Given the description of an element on the screen output the (x, y) to click on. 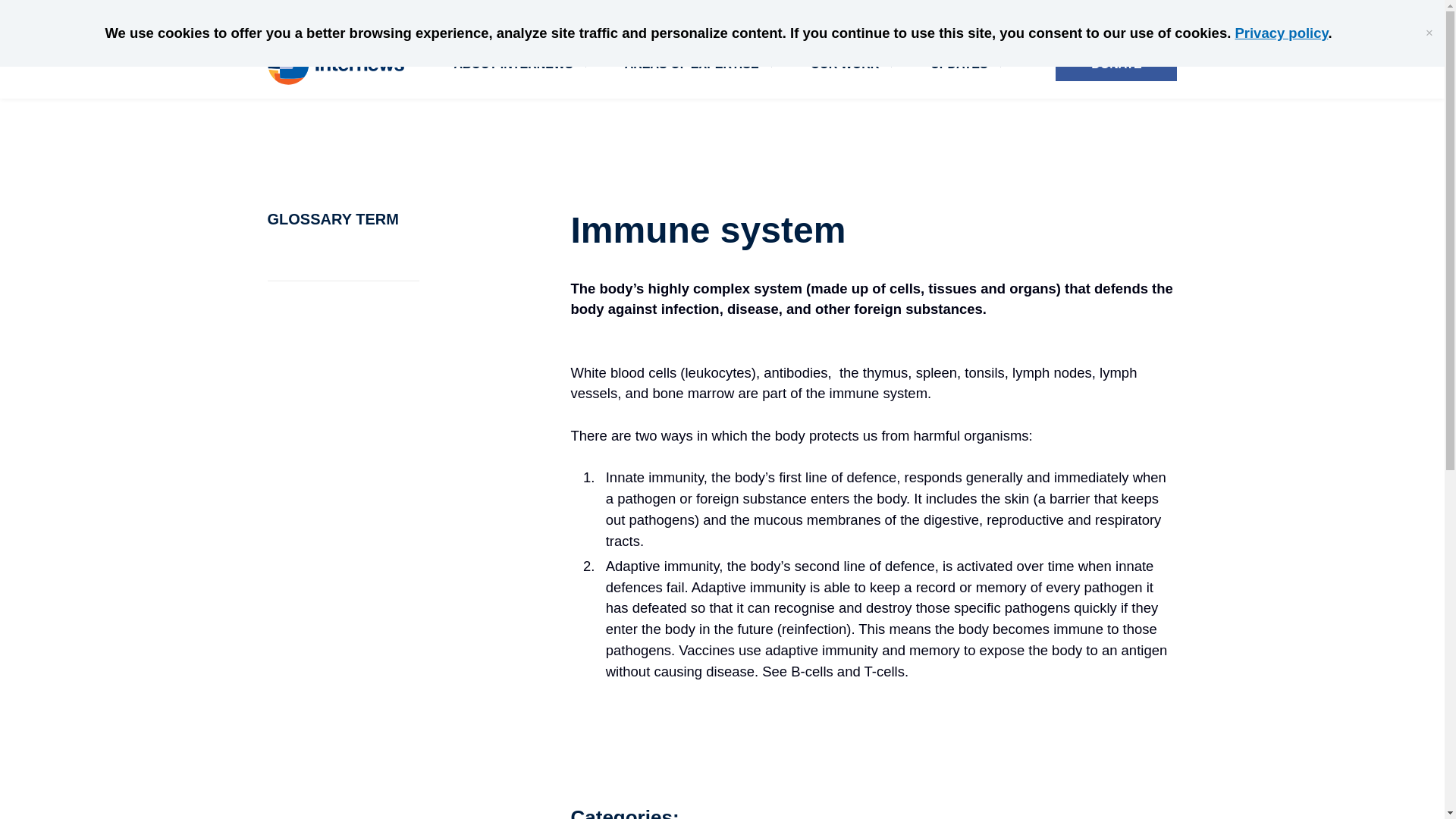
Connect with us on LinkedIn (1162, 12)
OUR WORK (844, 64)
Follow us on X (1131, 12)
Like us on Facebook (1098, 12)
Open search (959, 13)
UPDATES (958, 64)
Privacy policy (1280, 32)
ABOUT INTERNEWS (512, 64)
AREAS OF EXPERTISE (691, 64)
CAREERS (1031, 13)
